Given the description of an element on the screen output the (x, y) to click on. 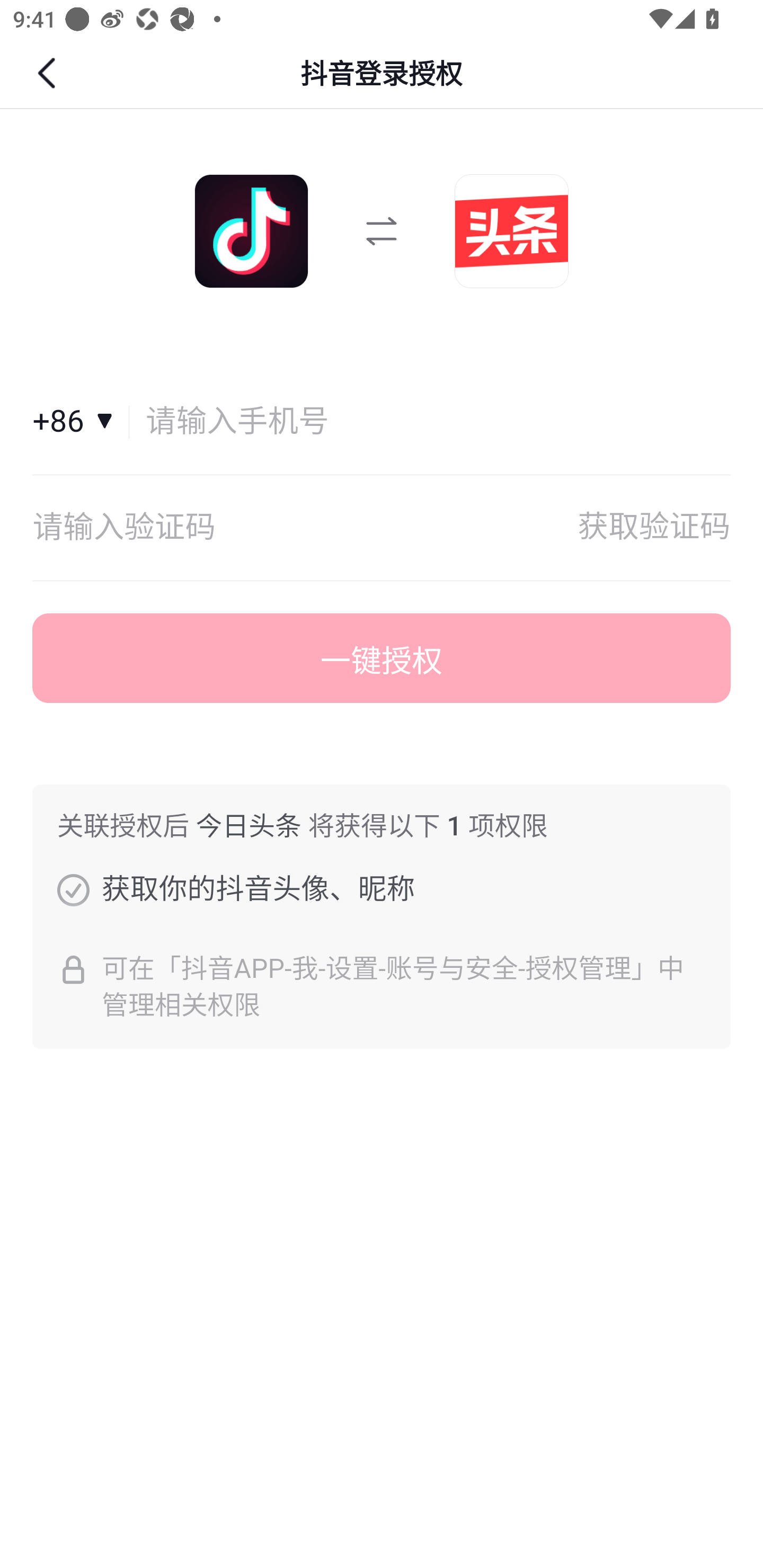
返回 (49, 72)
国家和地区+86 (81, 421)
获取验证码 (653, 527)
一键授权 (381, 658)
获取你的抖音头像、昵称 (72, 889)
